Given the description of an element on the screen output the (x, y) to click on. 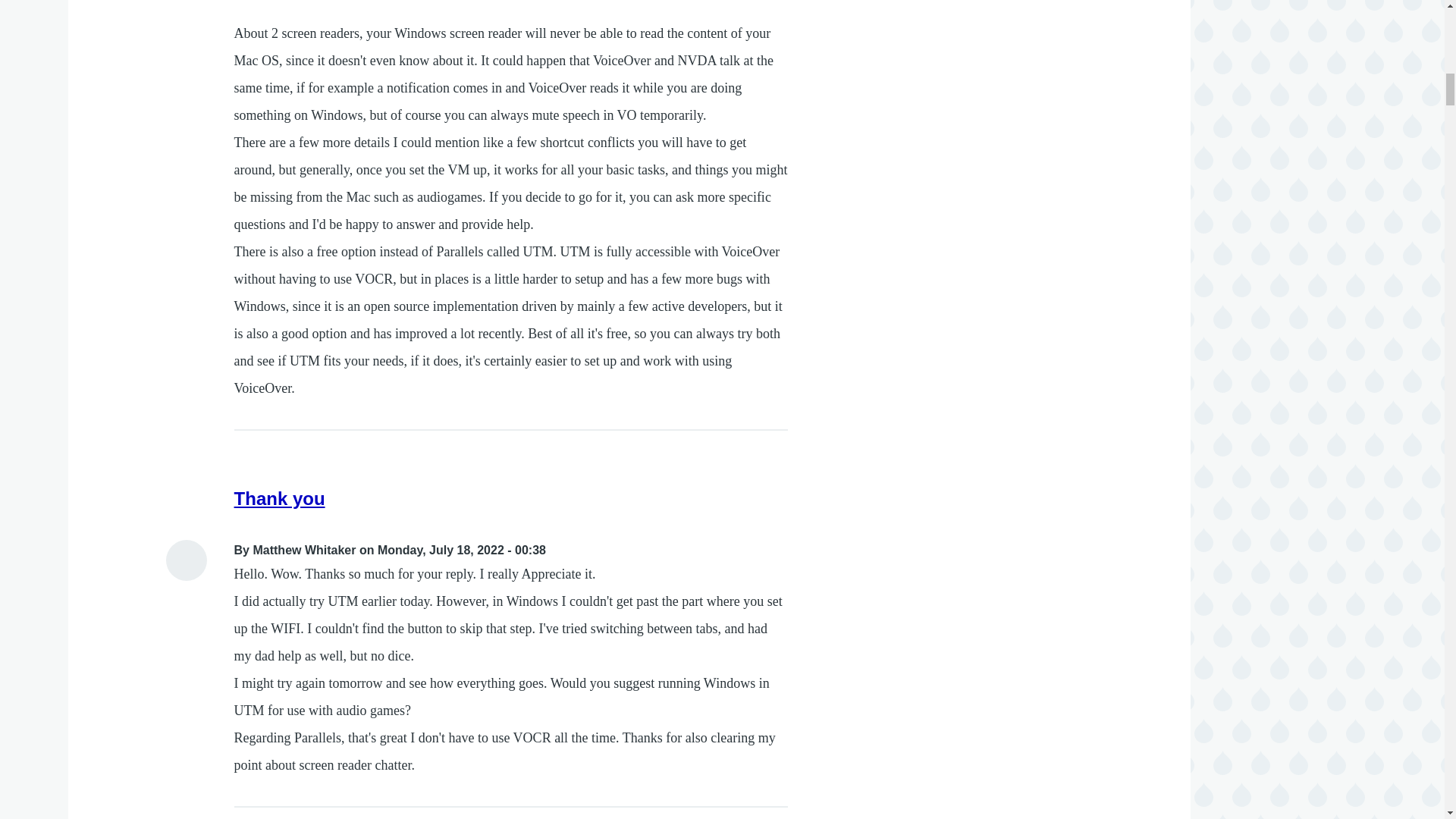
Thank you (279, 498)
